Given the description of an element on the screen output the (x, y) to click on. 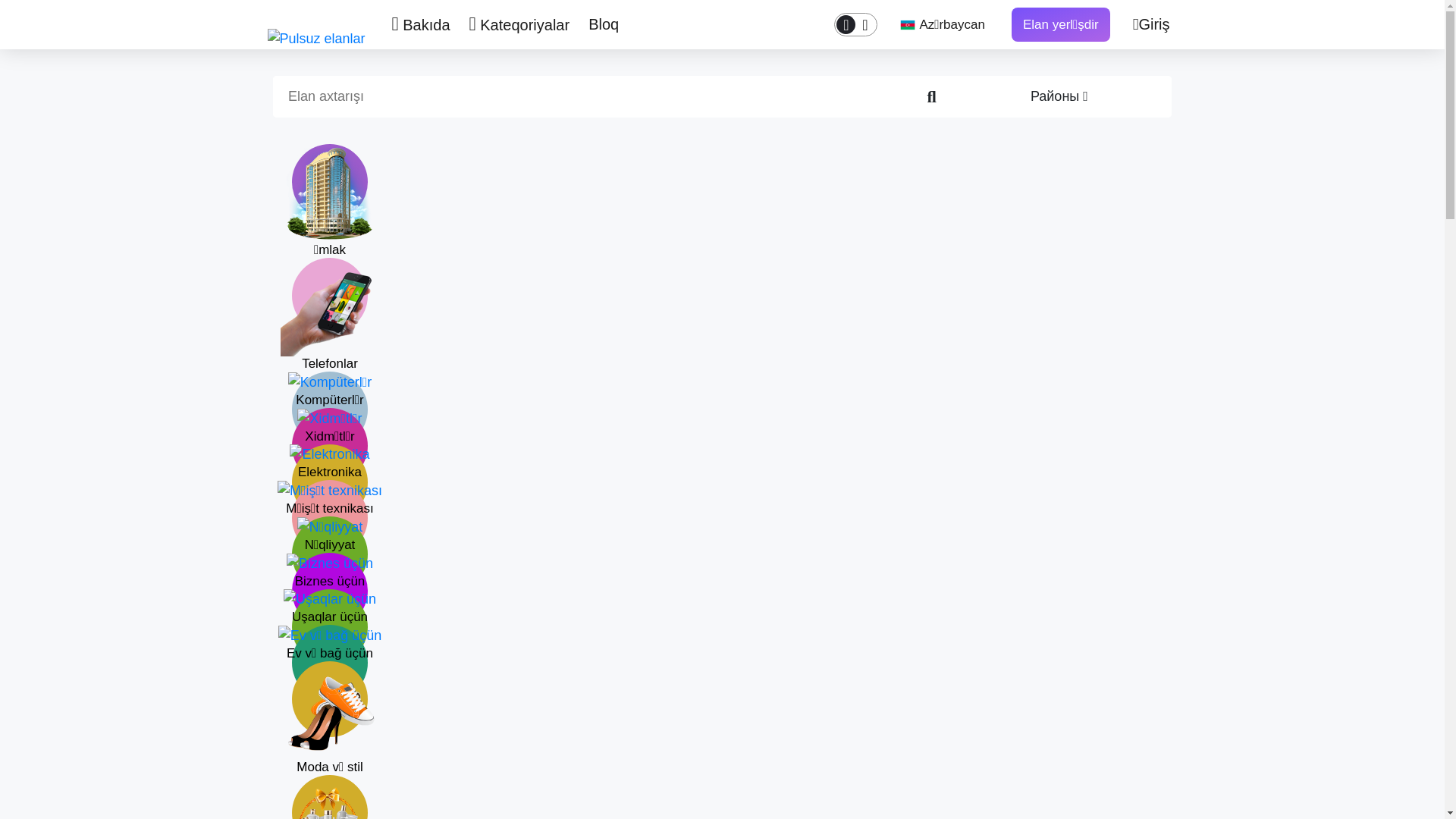
Pulsuz elanlar Element type: hover (317, 37)
Bloq Element type: text (603, 24)
Elektronika Element type: text (329, 462)
Telefonlar Element type: text (329, 334)
